Given the description of an element on the screen output the (x, y) to click on. 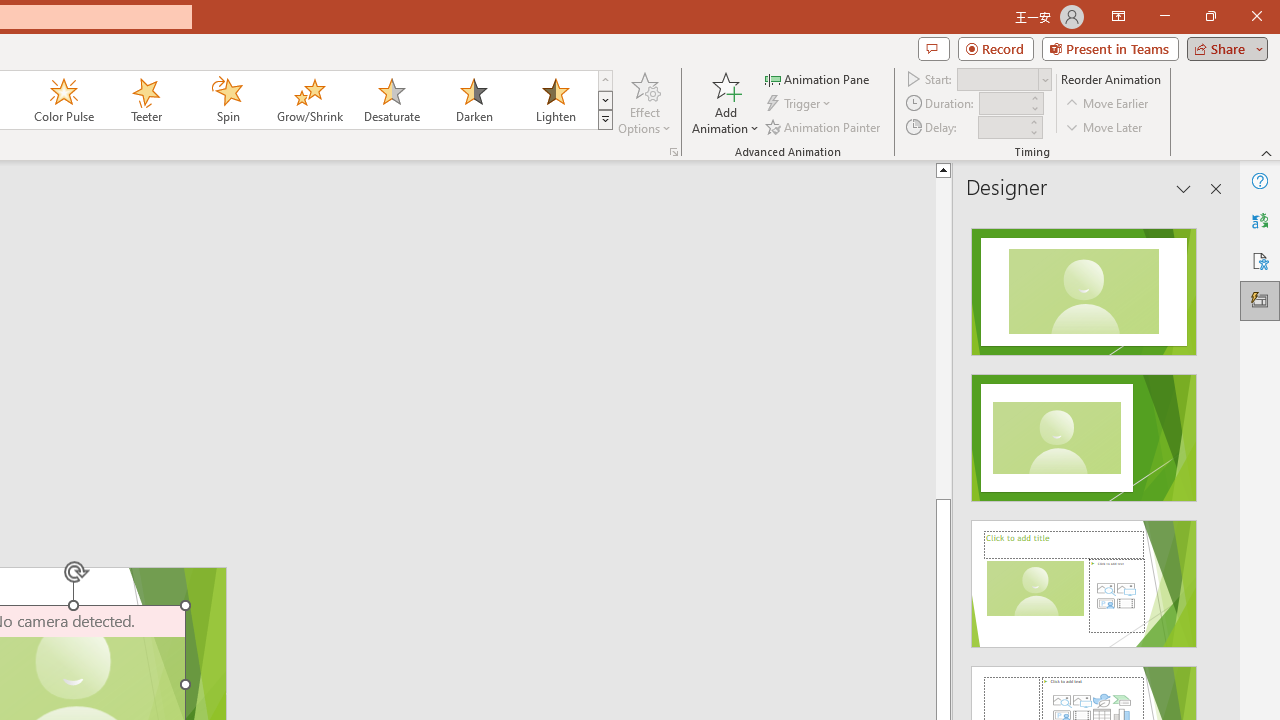
Trigger (799, 103)
Move Earlier (1107, 103)
Animation Delay (1002, 127)
Color Pulse (63, 100)
Move Later (1105, 126)
Lighten (555, 100)
